Given the description of an element on the screen output the (x, y) to click on. 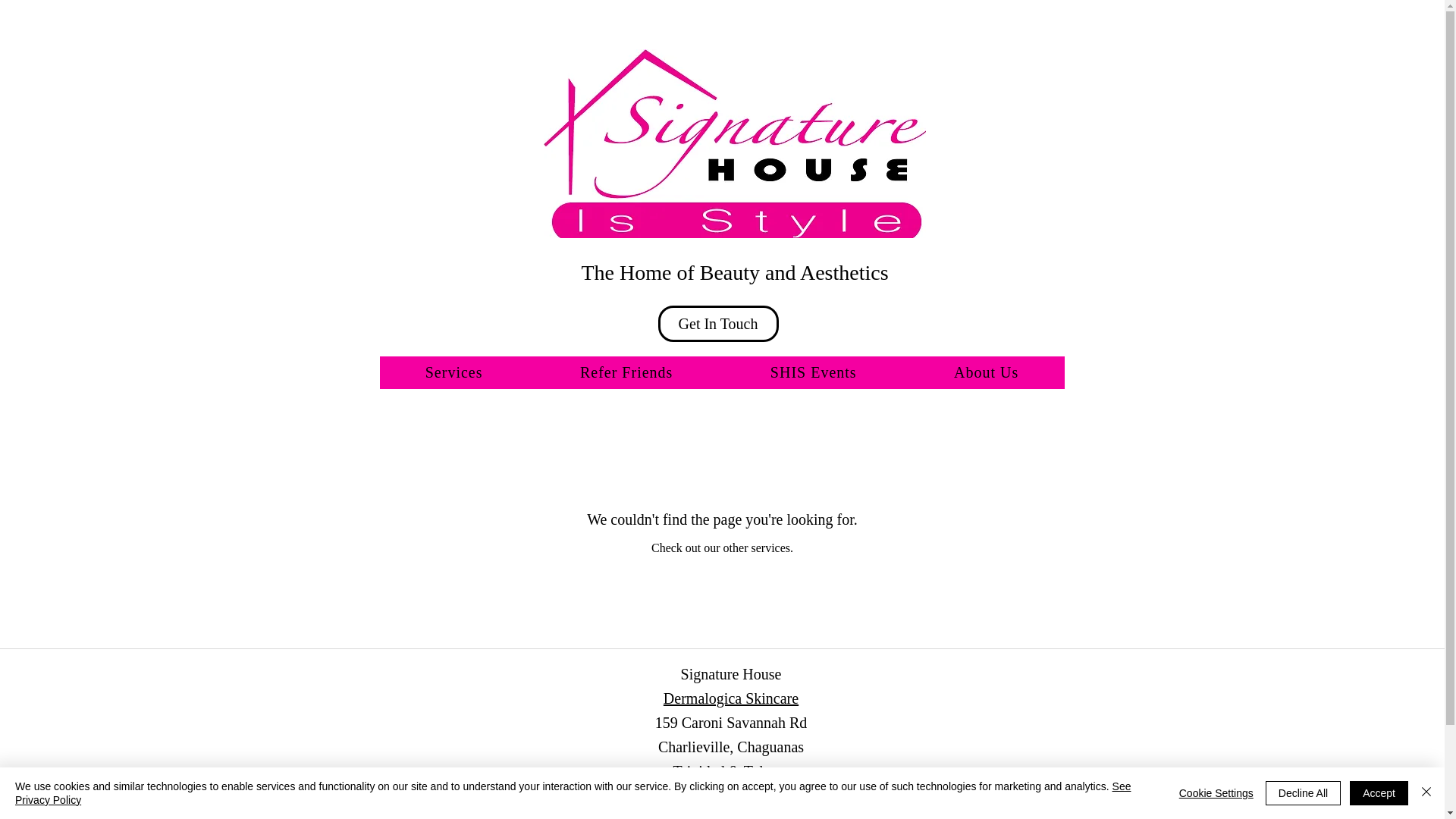
Dermalogica Skincare (730, 698)
Get In Touch (718, 323)
Services (452, 372)
SHIS Events (813, 372)
Decline All (1302, 793)
Refer Friends (626, 372)
See Privacy Policy (572, 792)
Accept (1378, 793)
About Us (986, 372)
